Given the description of an element on the screen output the (x, y) to click on. 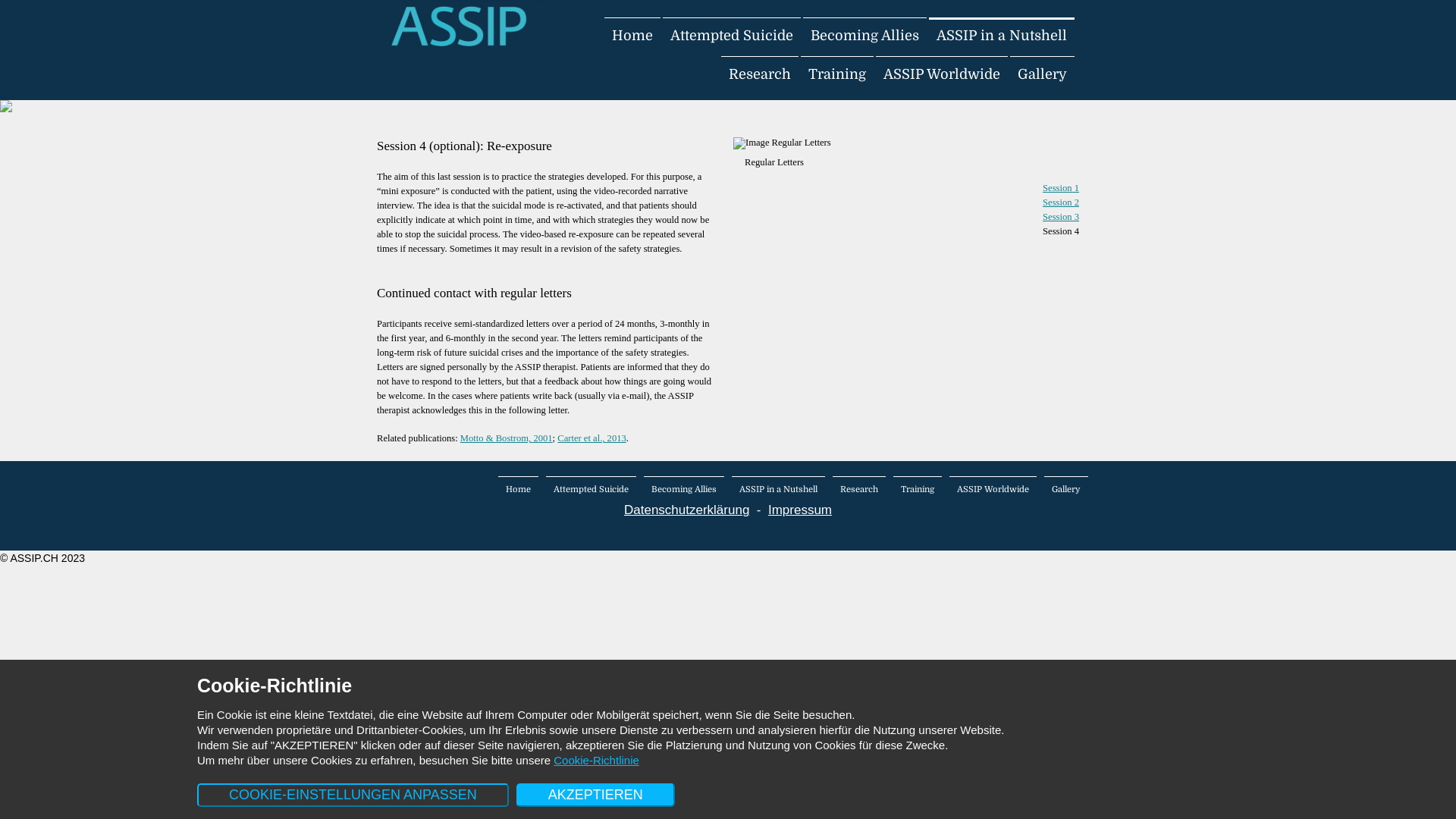
Research Element type: text (858, 488)
Motto & Bostrom, 2001 Element type: text (506, 438)
Session 1 Element type: text (1060, 187)
Training Element type: text (917, 488)
Training Element type: text (836, 73)
Gallery Element type: text (1042, 73)
ASSIP in a Nutshell Element type: text (1001, 35)
Attempted Suicide Element type: text (591, 488)
Session 3 Element type: text (1060, 216)
Session 2 Element type: text (1060, 202)
ASSIP Worldwide Element type: text (941, 73)
Cookie-Richtlinie Element type: text (596, 759)
Research Element type: text (759, 73)
Attempted Suicide Element type: text (731, 35)
Becoming Allies Element type: text (864, 35)
Gallery Element type: text (1066, 488)
COOKIE-EINSTELLUNGEN ANPASSEN Element type: text (352, 794)
Home Element type: text (632, 35)
ASSIP in a Nutshell Element type: text (778, 488)
AKZEPTIEREN Element type: text (595, 794)
Carter et al., 2013 Element type: text (591, 438)
Home Element type: text (518, 488)
ASSIP Worldwide Element type: text (992, 488)
Becoming Allies Element type: text (683, 488)
Impressum Element type: text (799, 509)
